Given the description of an element on the screen output the (x, y) to click on. 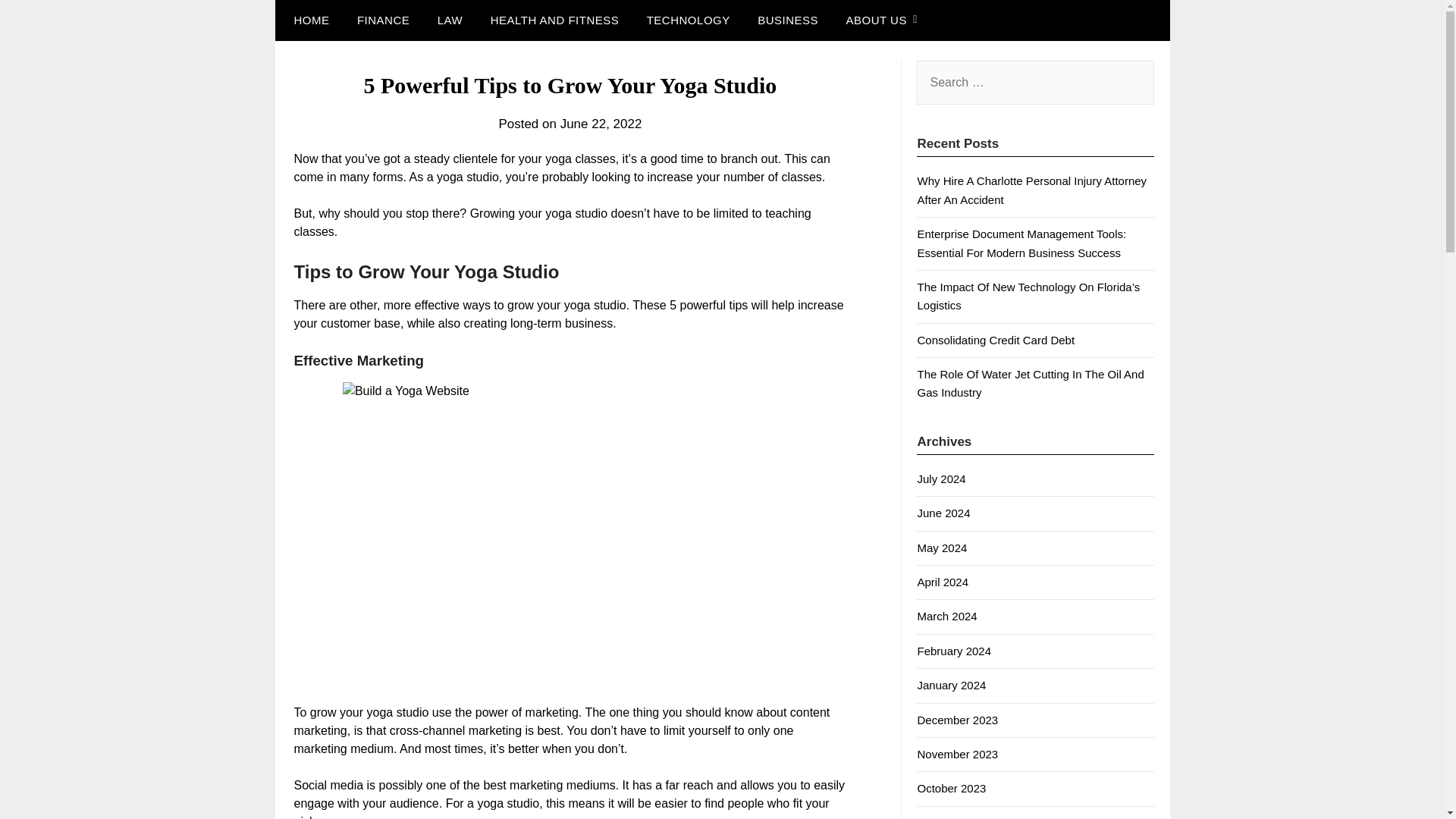
HEALTH AND FITNESS (555, 20)
December 2023 (957, 719)
ABOUT US (875, 20)
FINANCE (383, 20)
BUSINESS (787, 20)
The Role Of Water Jet Cutting In The Oil And Gas Industry (1029, 382)
HOME (307, 20)
Search (38, 22)
May 2024 (941, 547)
November 2023 (957, 753)
Consolidating Credit Card Debt (995, 339)
LAW (449, 20)
October 2023 (951, 788)
